Given the description of an element on the screen output the (x, y) to click on. 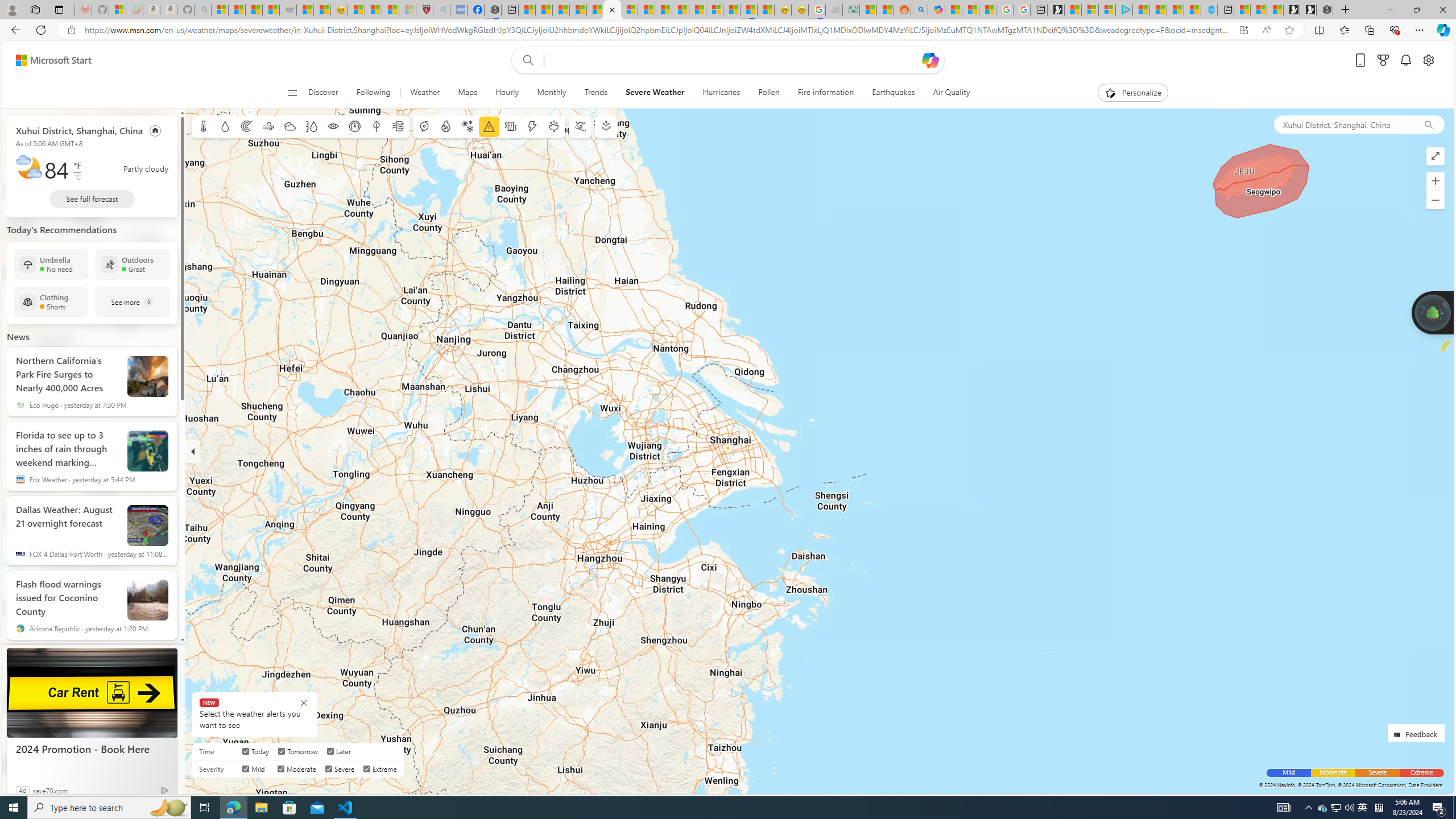
save70.com (50, 790)
Join us in planting real trees to help our planet! (1431, 312)
Ski conditions (579, 126)
